Given the description of an element on the screen output the (x, y) to click on. 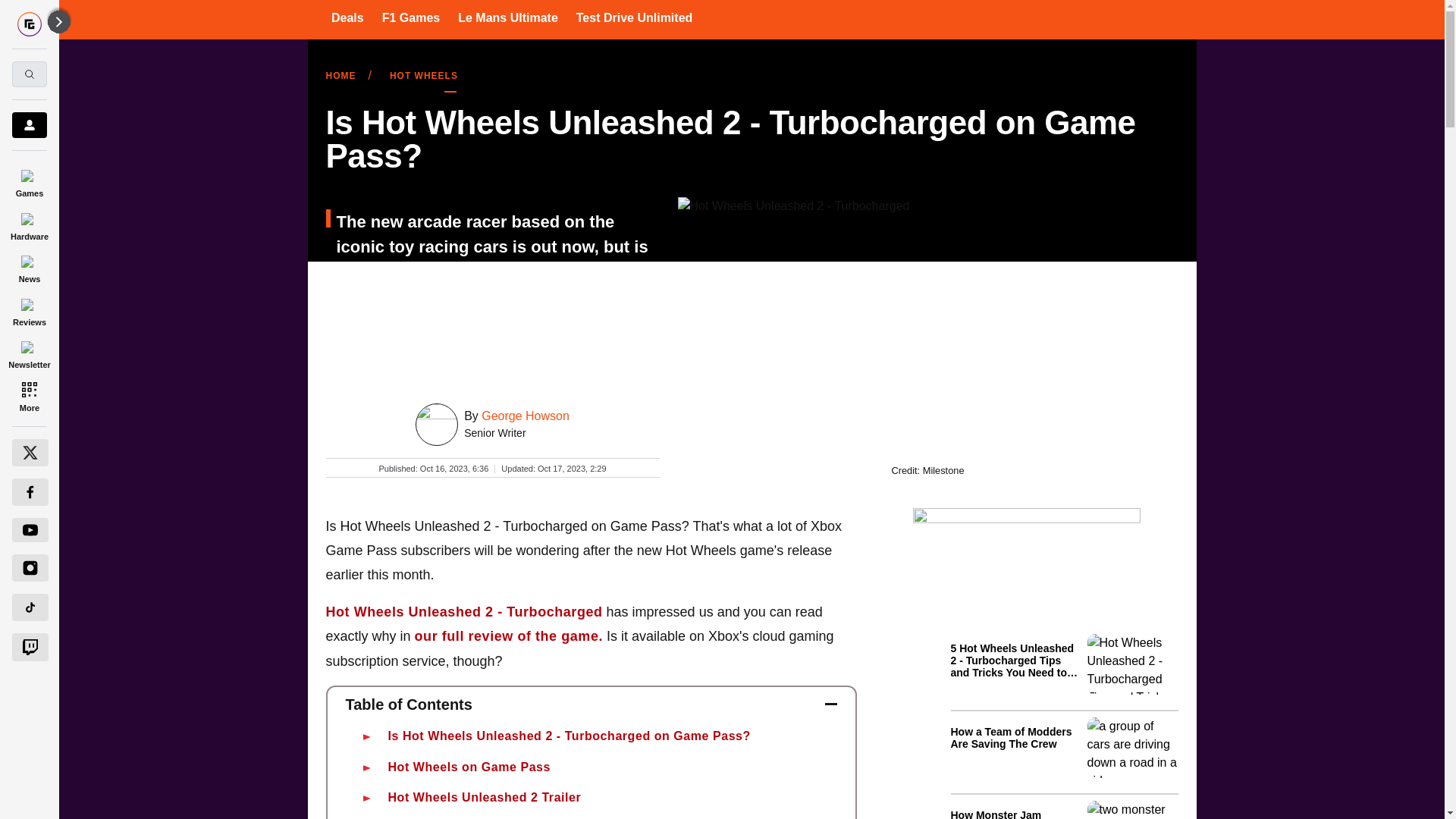
Test Drive Unlimited (634, 18)
Latest News (1063, 723)
Reviews (28, 309)
News (28, 266)
More (28, 395)
F1 Games (410, 18)
Deals (347, 18)
Games (28, 180)
Le Mans Ultimate (507, 18)
Hardware (28, 224)
